Given the description of an element on the screen output the (x, y) to click on. 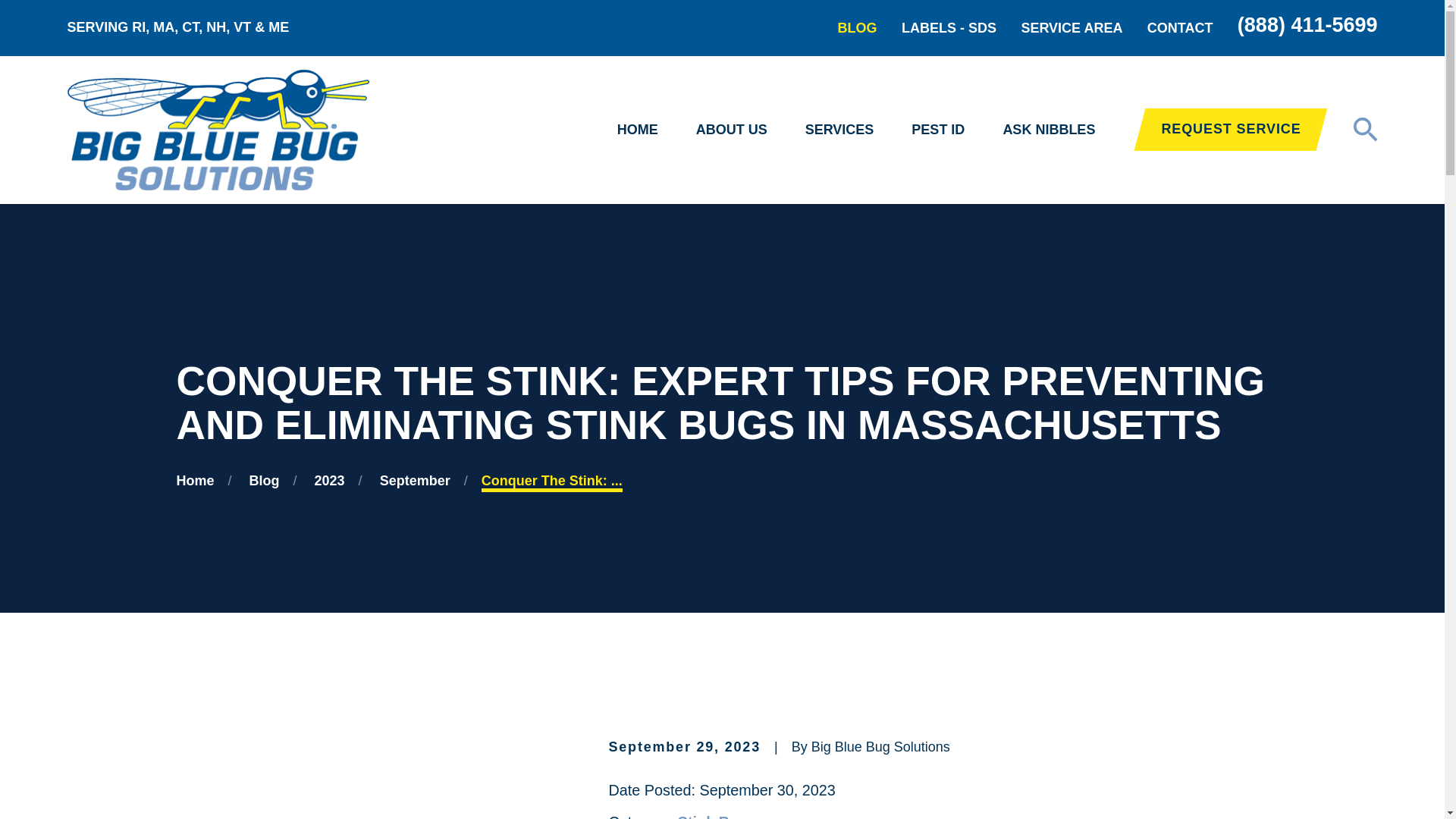
LABELS - SDS (948, 28)
Go Home (195, 480)
BLOG (857, 28)
SERVICE AREA (1071, 28)
SERVICES (840, 129)
Home (217, 129)
PEST ID (937, 129)
ABOUT US (731, 129)
CONTACT (1179, 28)
